Given the description of an element on the screen output the (x, y) to click on. 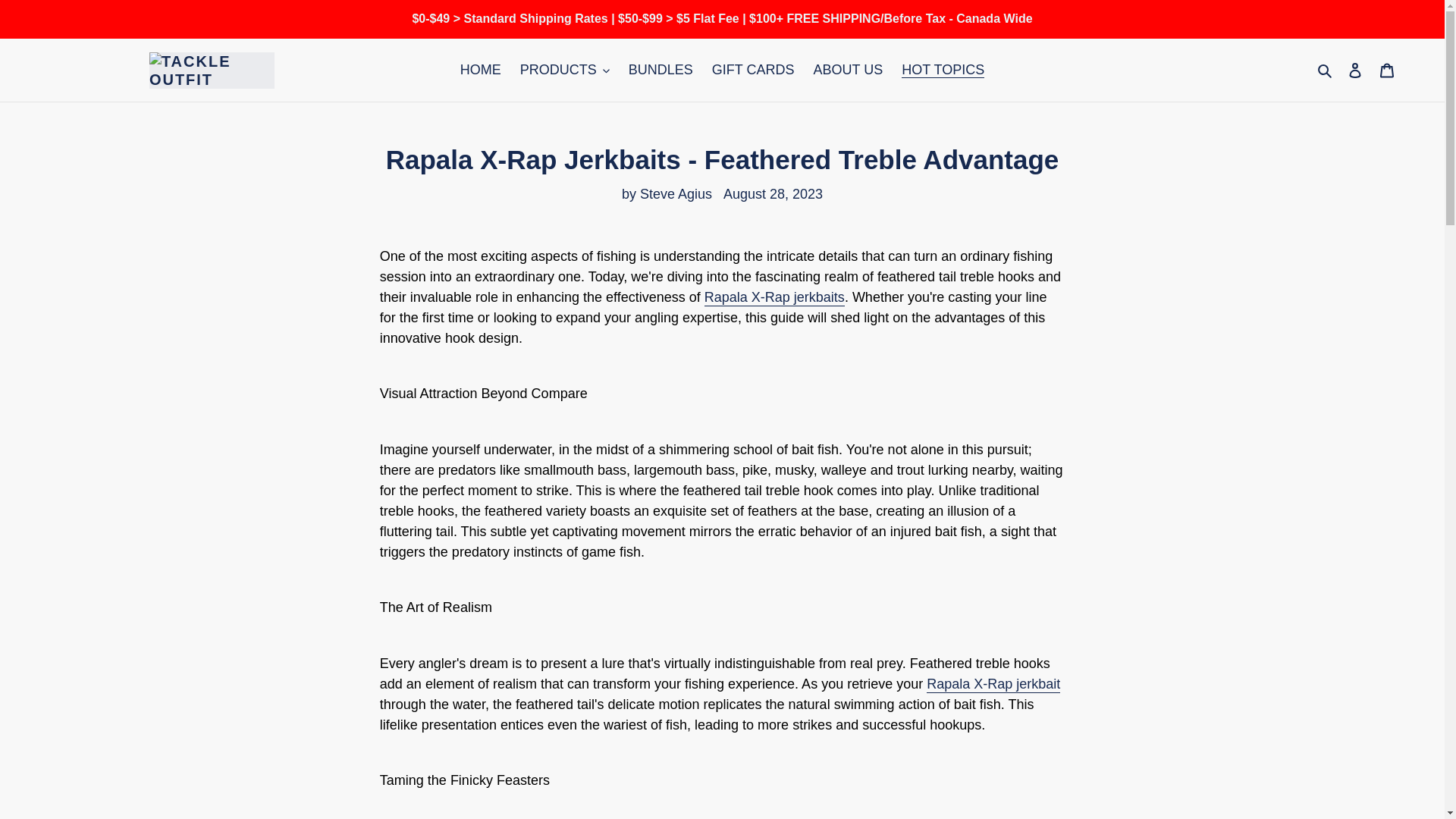
GIFT CARDS (753, 69)
Search (1326, 69)
Log in (1355, 69)
Cart (1387, 69)
PRODUCTS (564, 69)
BUNDLES (660, 69)
ABOUT US (848, 69)
rapala x rap jerk bait (774, 297)
rapala x rap jerk bait (992, 684)
HOME (480, 69)
HOT TOPICS (942, 69)
